Given the description of an element on the screen output the (x, y) to click on. 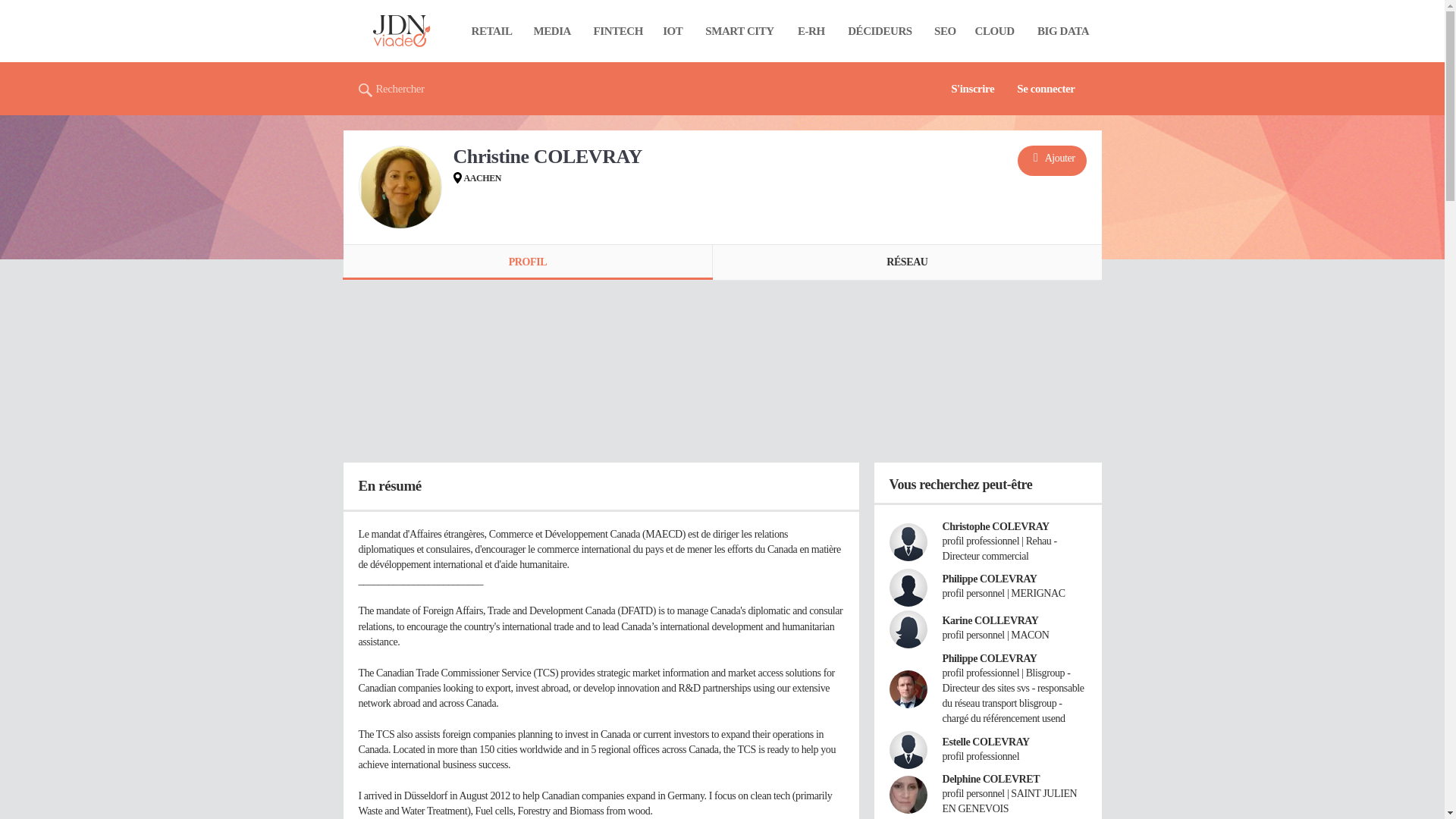
SEO (944, 30)
RETAIL (491, 30)
Rechercher (390, 88)
FINTECH (617, 30)
MEDIA (551, 30)
SMART CITY (739, 30)
Christine COLEVRAY (399, 187)
BIG DATA (1063, 30)
IOT (672, 30)
CLOUD (994, 30)
